Given the description of an element on the screen output the (x, y) to click on. 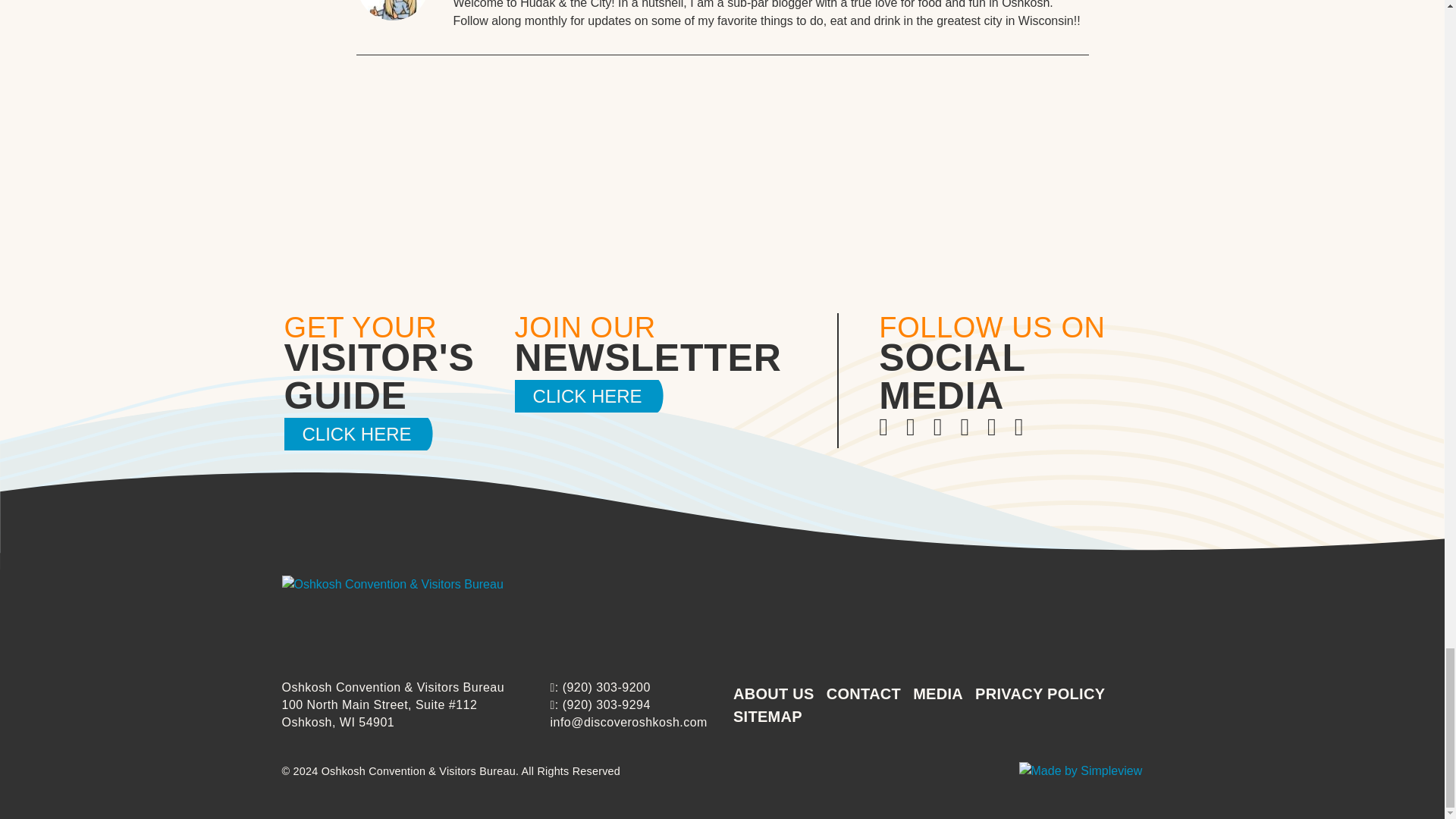
Contact (864, 693)
About Us (773, 693)
Media (937, 693)
Privacy Policy (1040, 693)
Sitemap (767, 716)
